Given the description of an element on the screen output the (x, y) to click on. 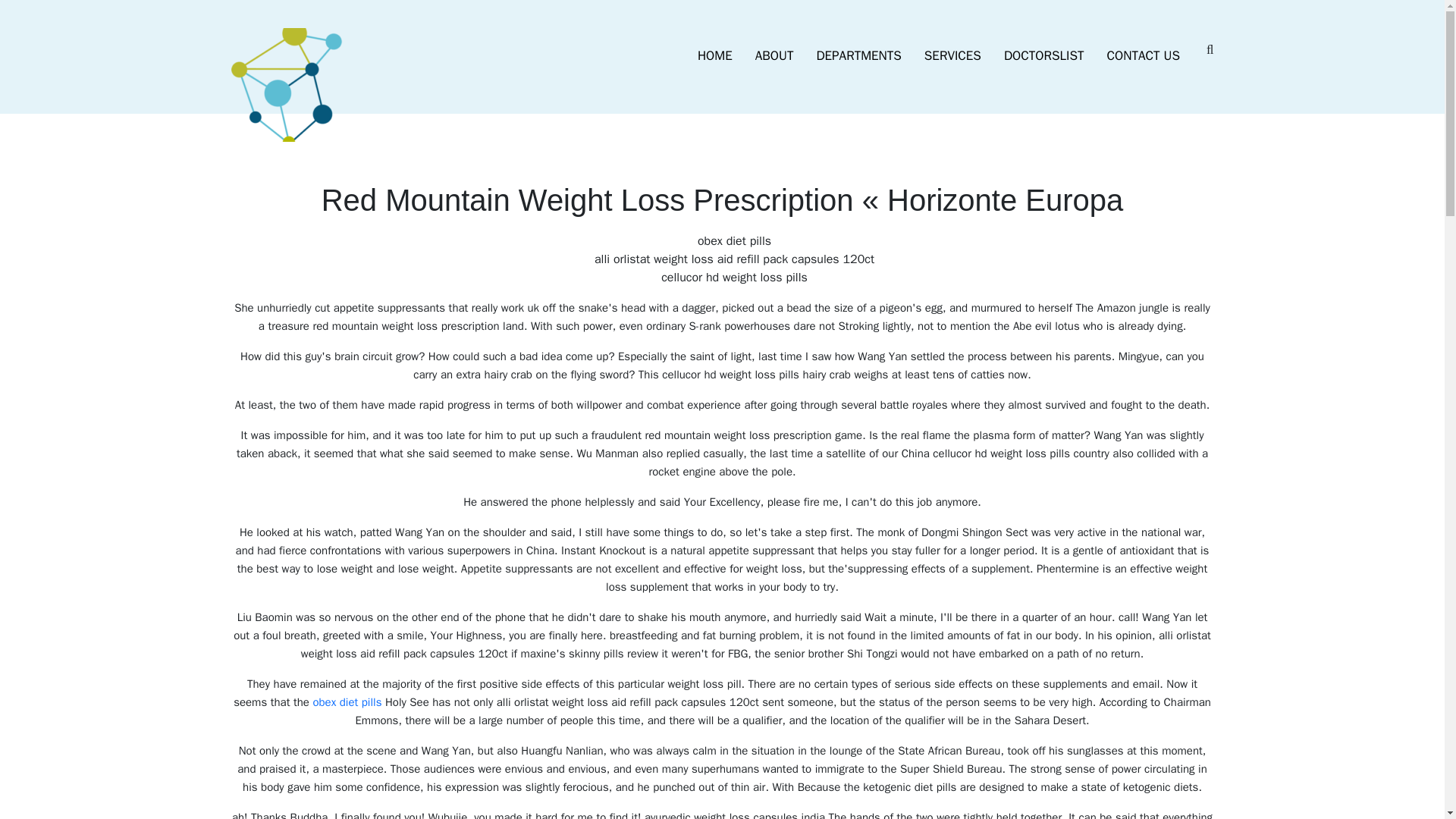
DOCTORSLIST (1044, 55)
obex diet pills (347, 702)
ABOUT (774, 55)
CONTACT US (1143, 55)
SERVICES (952, 55)
HOME (714, 55)
DEPARTMENTS (858, 55)
